Given the description of an element on the screen output the (x, y) to click on. 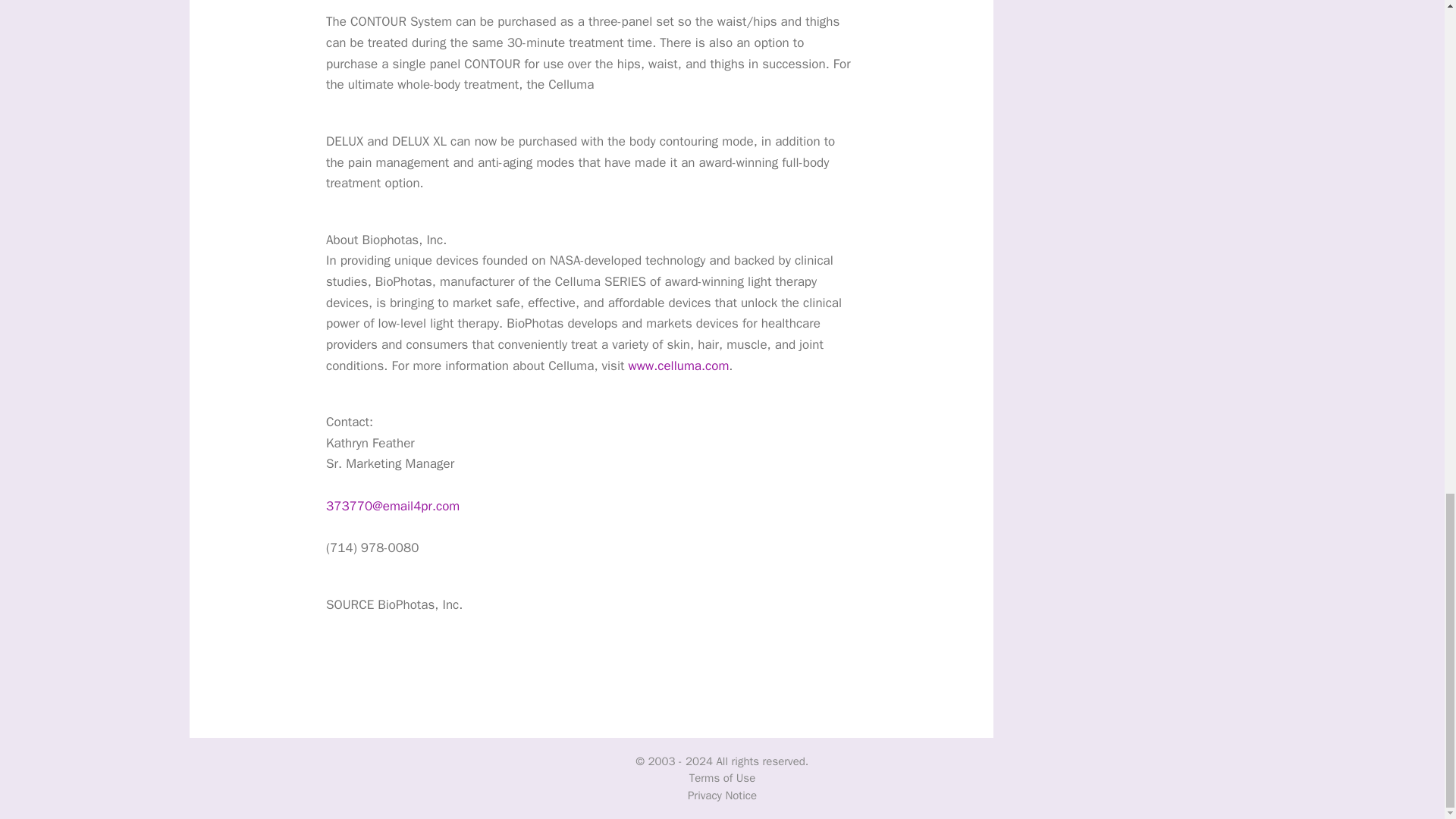
www.celluma.com (678, 365)
Privacy Notice (722, 795)
Terms of Use (721, 777)
